Given the description of an element on the screen output the (x, y) to click on. 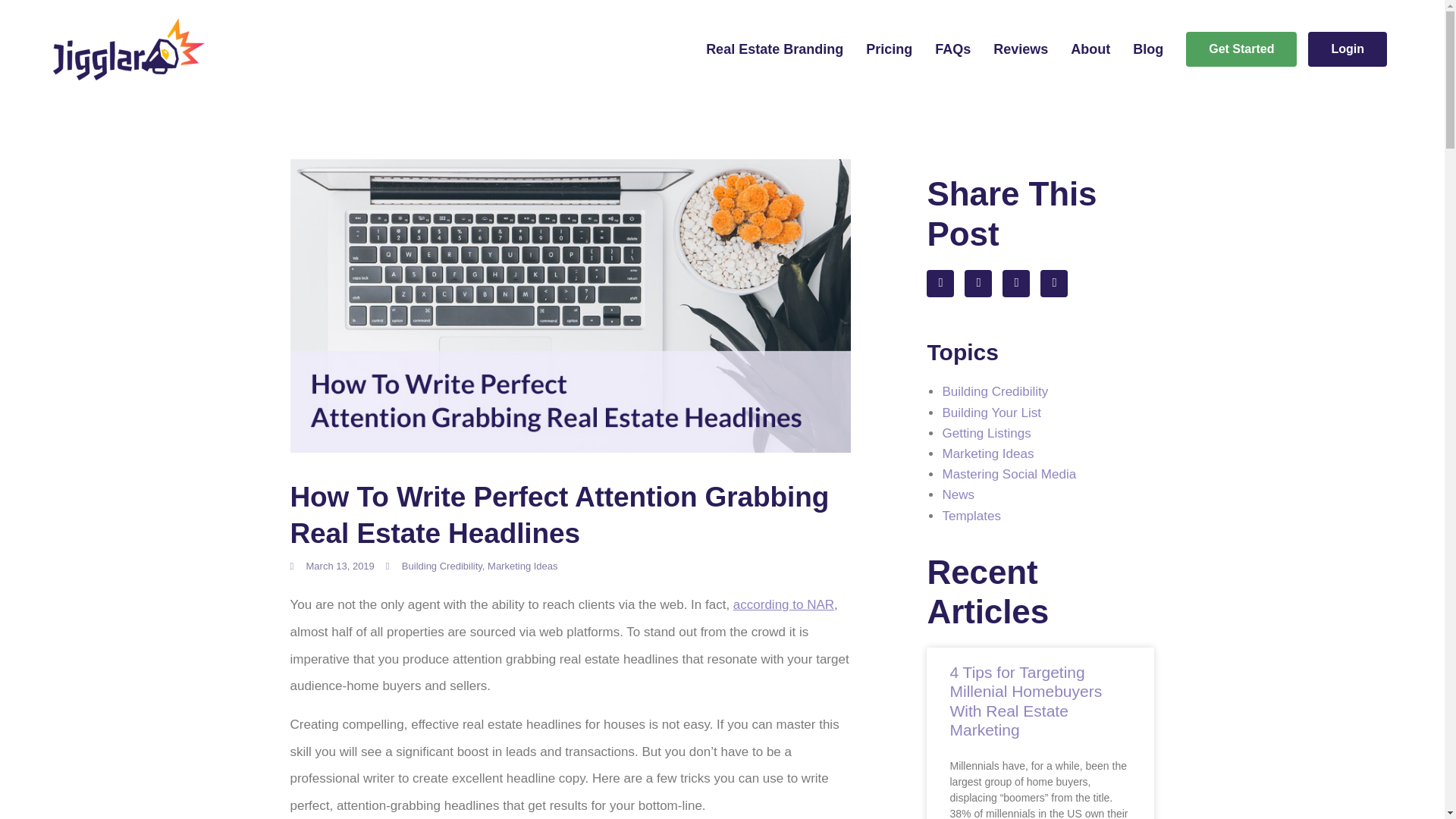
Templates (971, 514)
Pricing (889, 48)
Get Started (1241, 48)
Reviews (1020, 48)
Getting Listings (986, 432)
Login (1347, 48)
Marketing Ideas (522, 565)
News (958, 494)
Mastering Social Media (1008, 473)
About (1089, 48)
Blog (1147, 48)
Building Your List (991, 412)
Real Estate Branding (774, 48)
Building Credibility (441, 565)
